Given the description of an element on the screen output the (x, y) to click on. 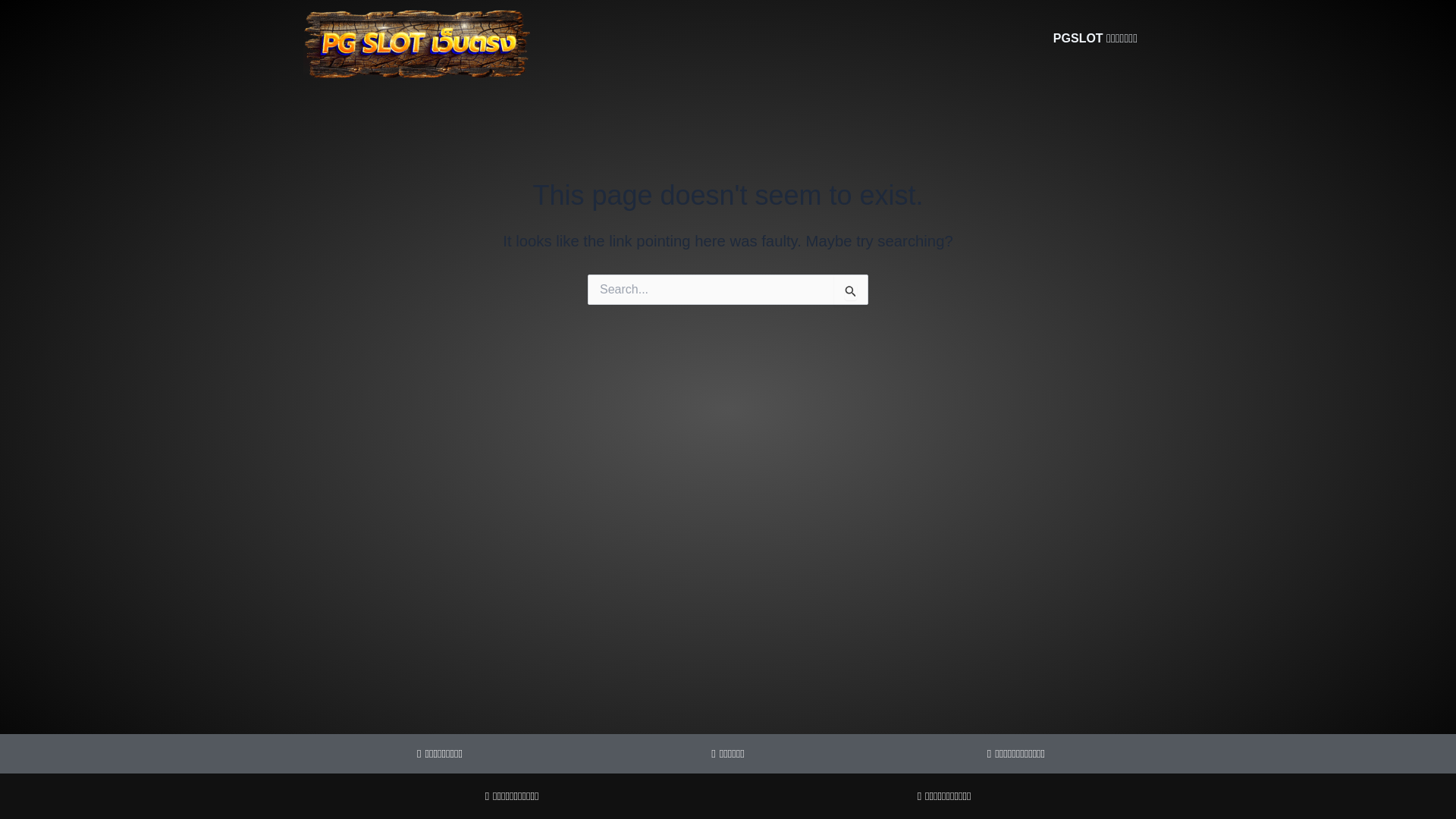
Search (850, 290)
Search (850, 290)
Search (850, 290)
